Given the description of an element on the screen output the (x, y) to click on. 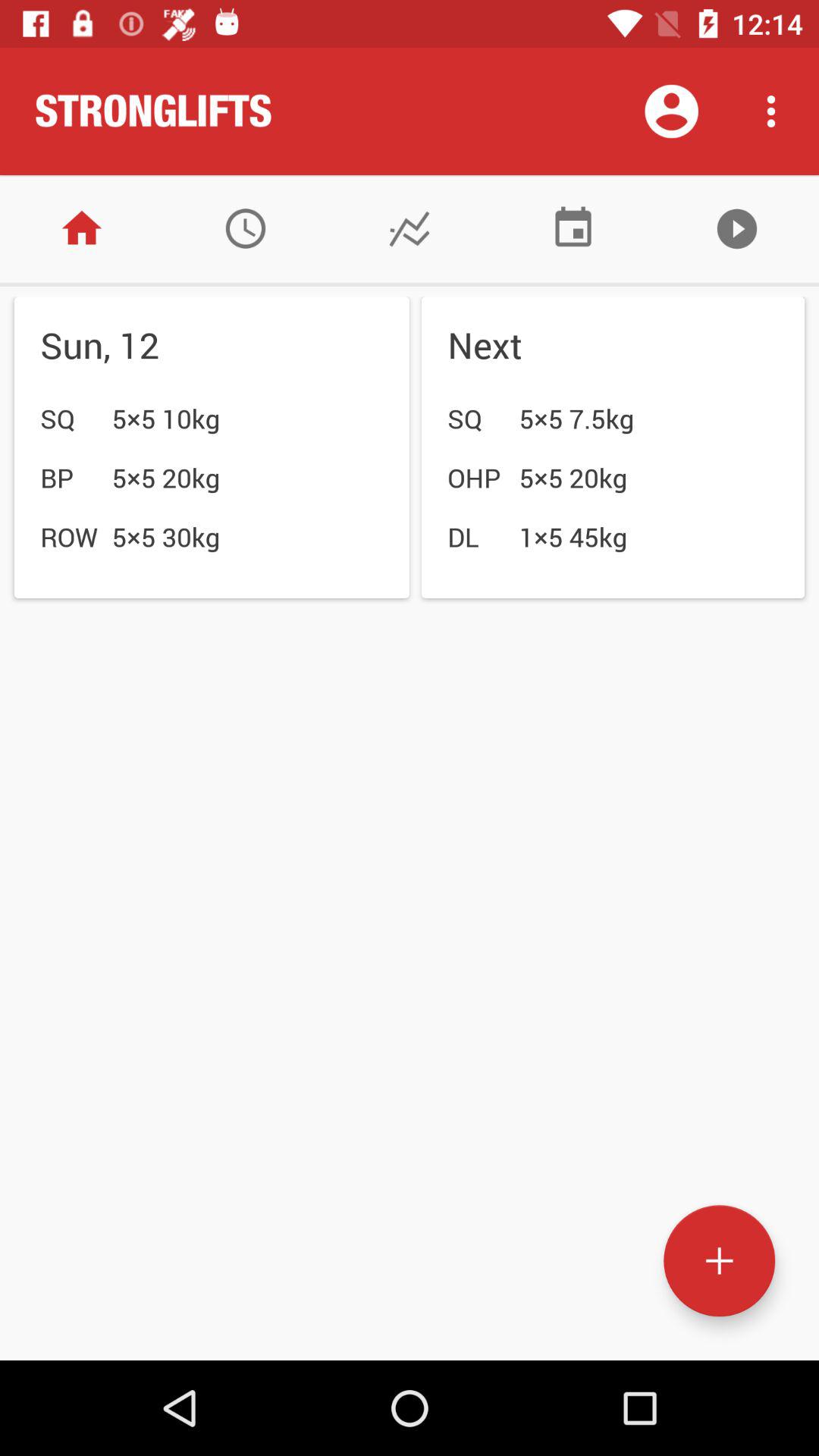
clock (245, 228)
